Given the description of an element on the screen output the (x, y) to click on. 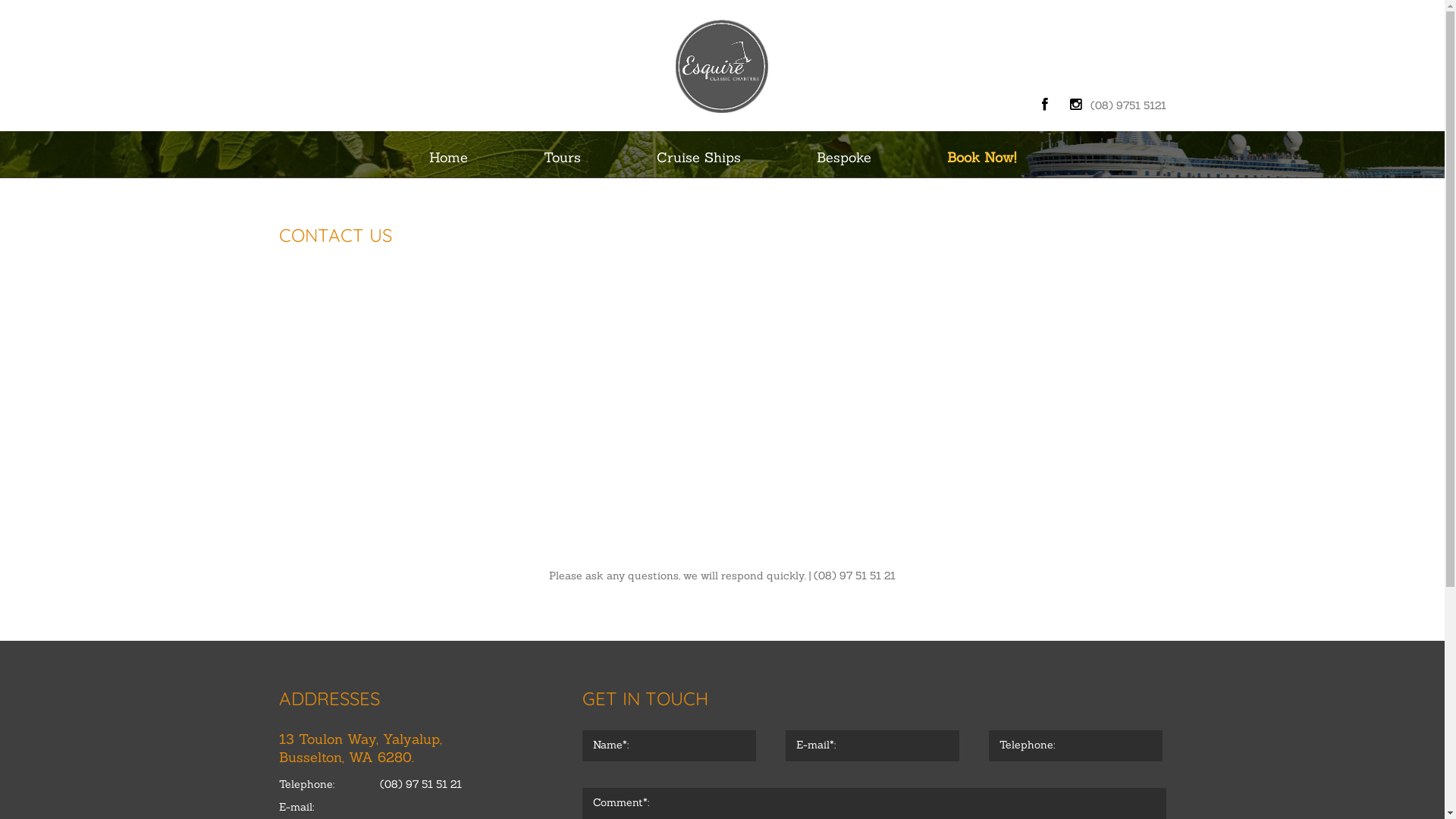
Bespoke Element type: text (842, 157)
Home Element type: text (448, 157)
Cruise Ships Element type: text (698, 157)
Book Now! Element type: text (980, 157)
Tours Element type: text (561, 157)
